Given the description of an element on the screen output the (x, y) to click on. 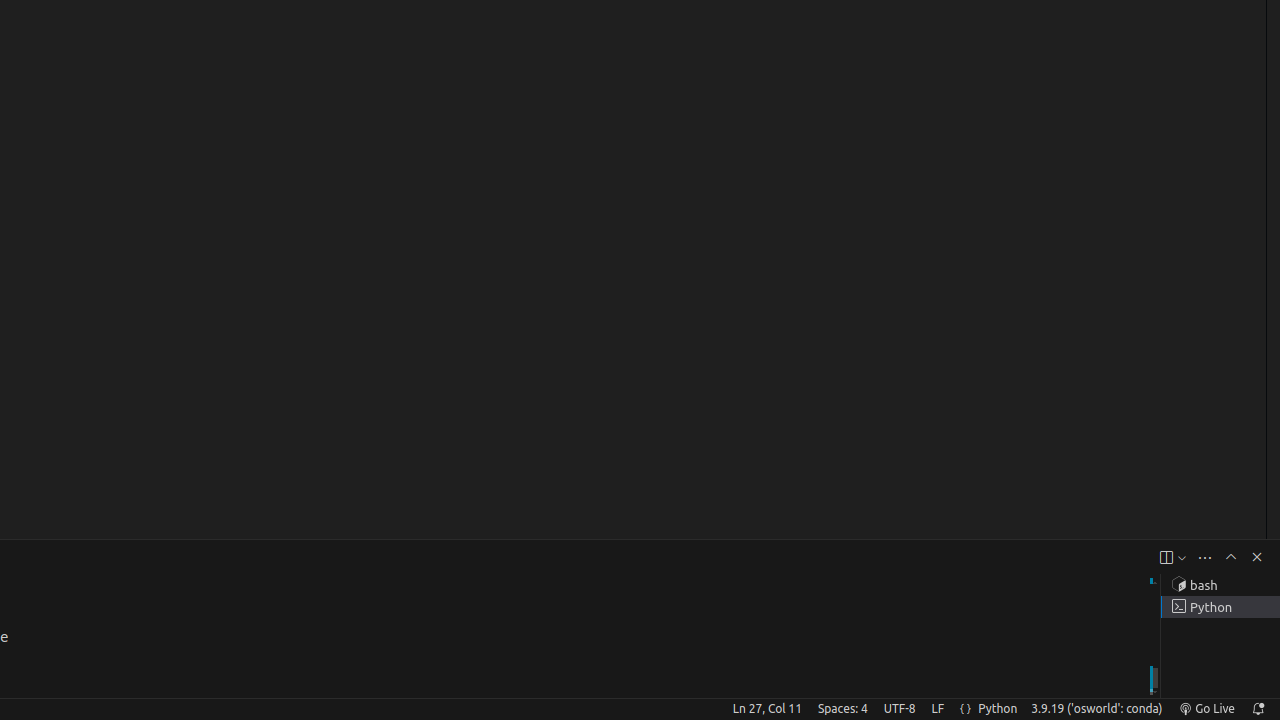
Notifications Element type: push-button (1258, 709)
